Given the description of an element on the screen output the (x, y) to click on. 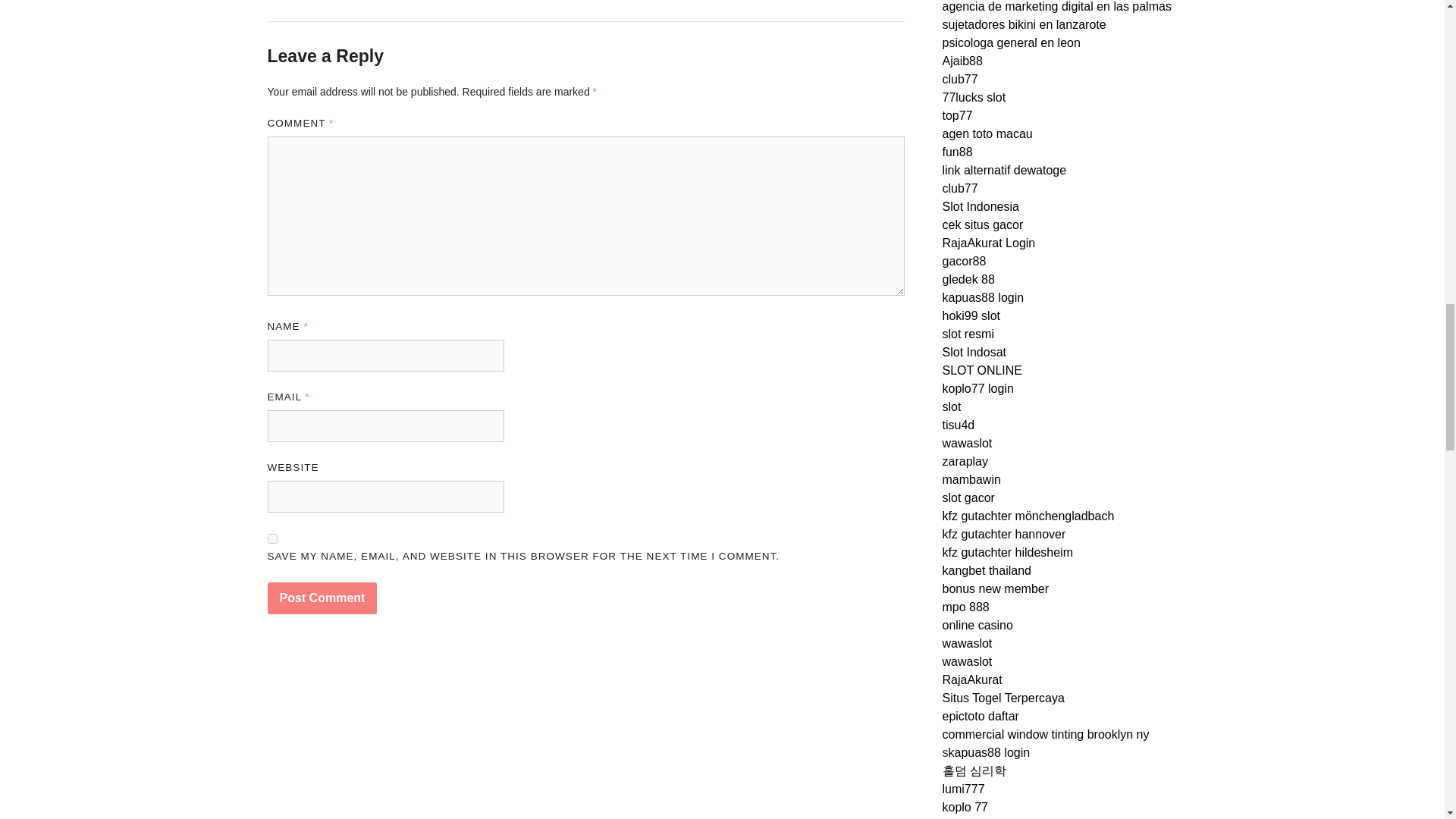
yes (271, 538)
Post Comment (321, 598)
Post Comment (321, 598)
